Given the description of an element on the screen output the (x, y) to click on. 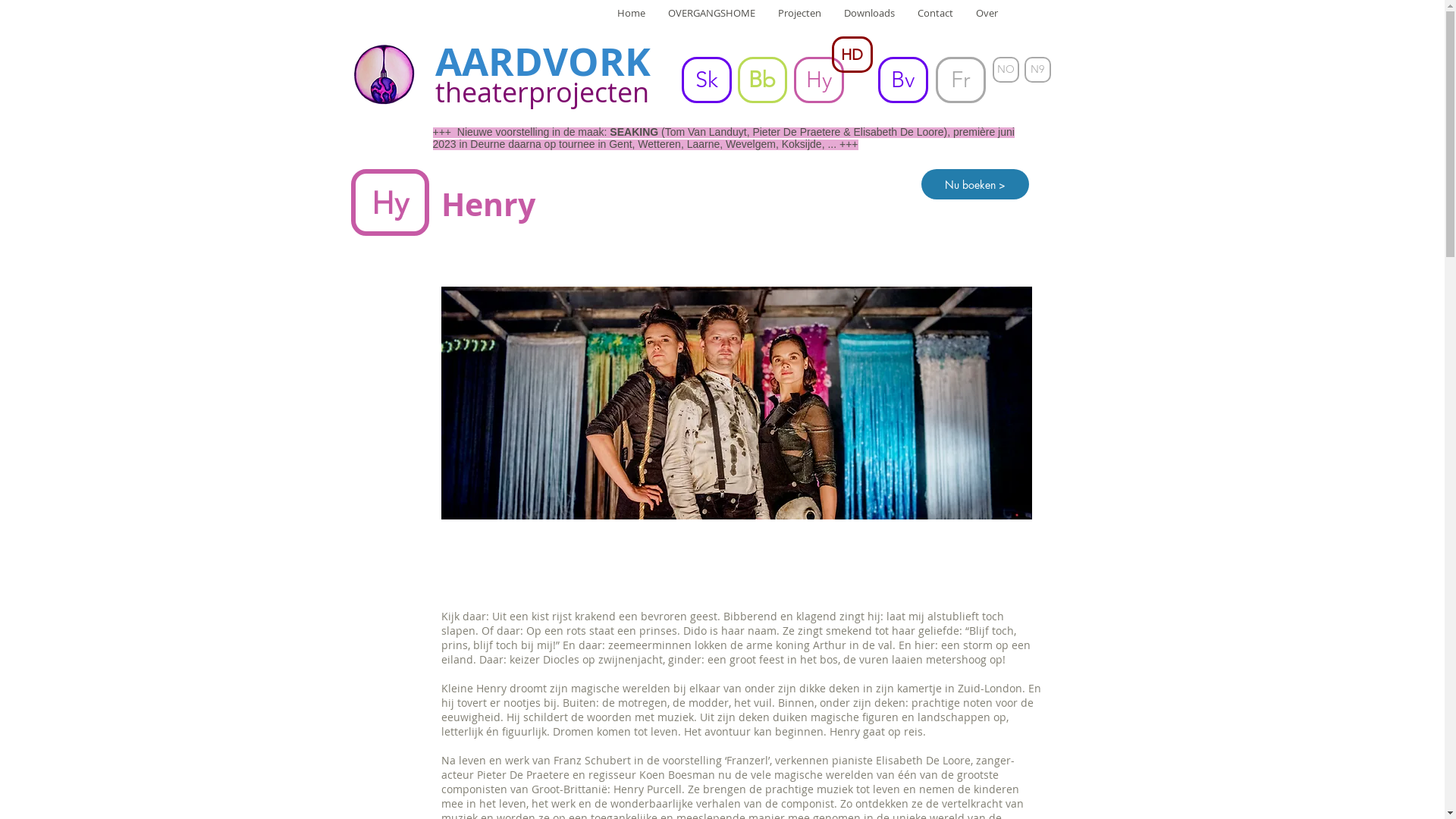
Hy Element type: text (818, 79)
AARDVORK Element type: text (542, 61)
N9 Element type: text (1036, 69)
OVERGANGSHOME Element type: text (711, 24)
HD Element type: text (851, 54)
Bb Element type: text (761, 79)
theaterprojecten Element type: text (542, 91)
Hy Element type: text (389, 202)
Contact Element type: text (934, 24)
Home Element type: text (630, 24)
Bv Element type: text (903, 79)
NO Element type: text (1004, 69)
Nu boeken > Element type: text (974, 184)
Over Element type: text (986, 24)
Sk Element type: text (705, 79)
Downloads Element type: text (869, 24)
Fr Element type: text (960, 79)
